Given the description of an element on the screen output the (x, y) to click on. 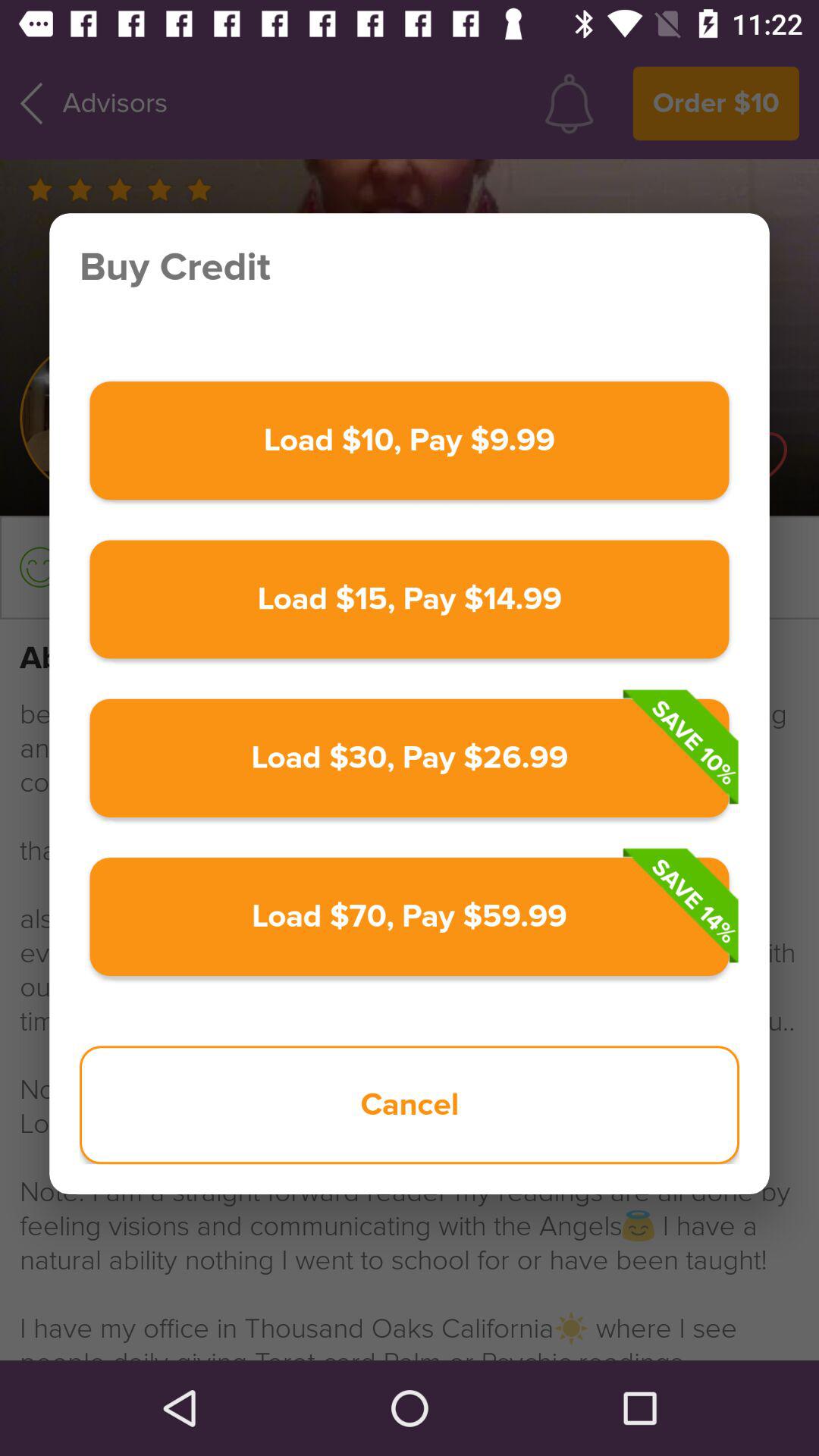
flip until the cancel item (409, 1104)
